Given the description of an element on the screen output the (x, y) to click on. 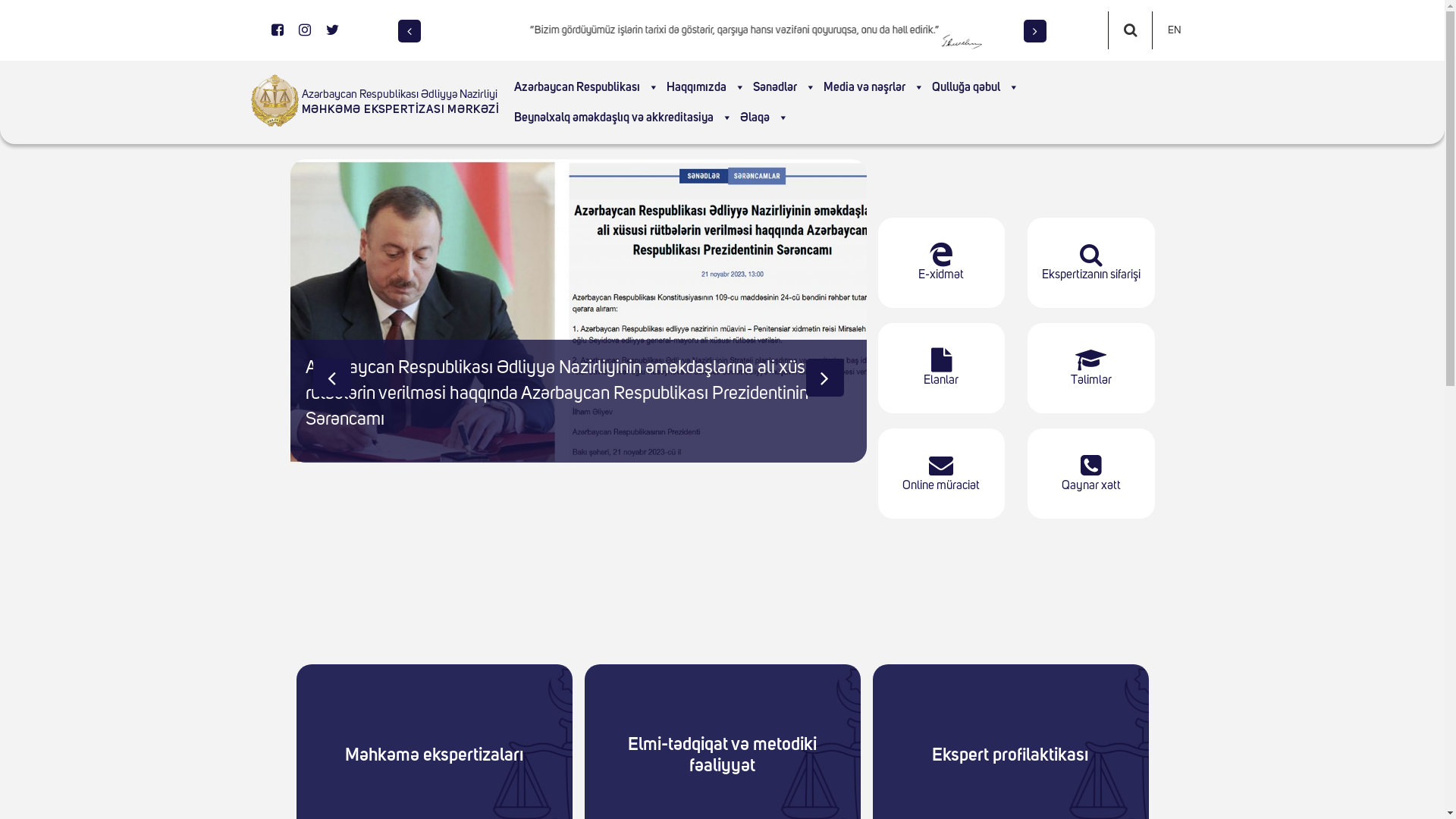
Elanlar Element type: text (941, 368)
EN Element type: text (1174, 30)
